Given the description of an element on the screen output the (x, y) to click on. 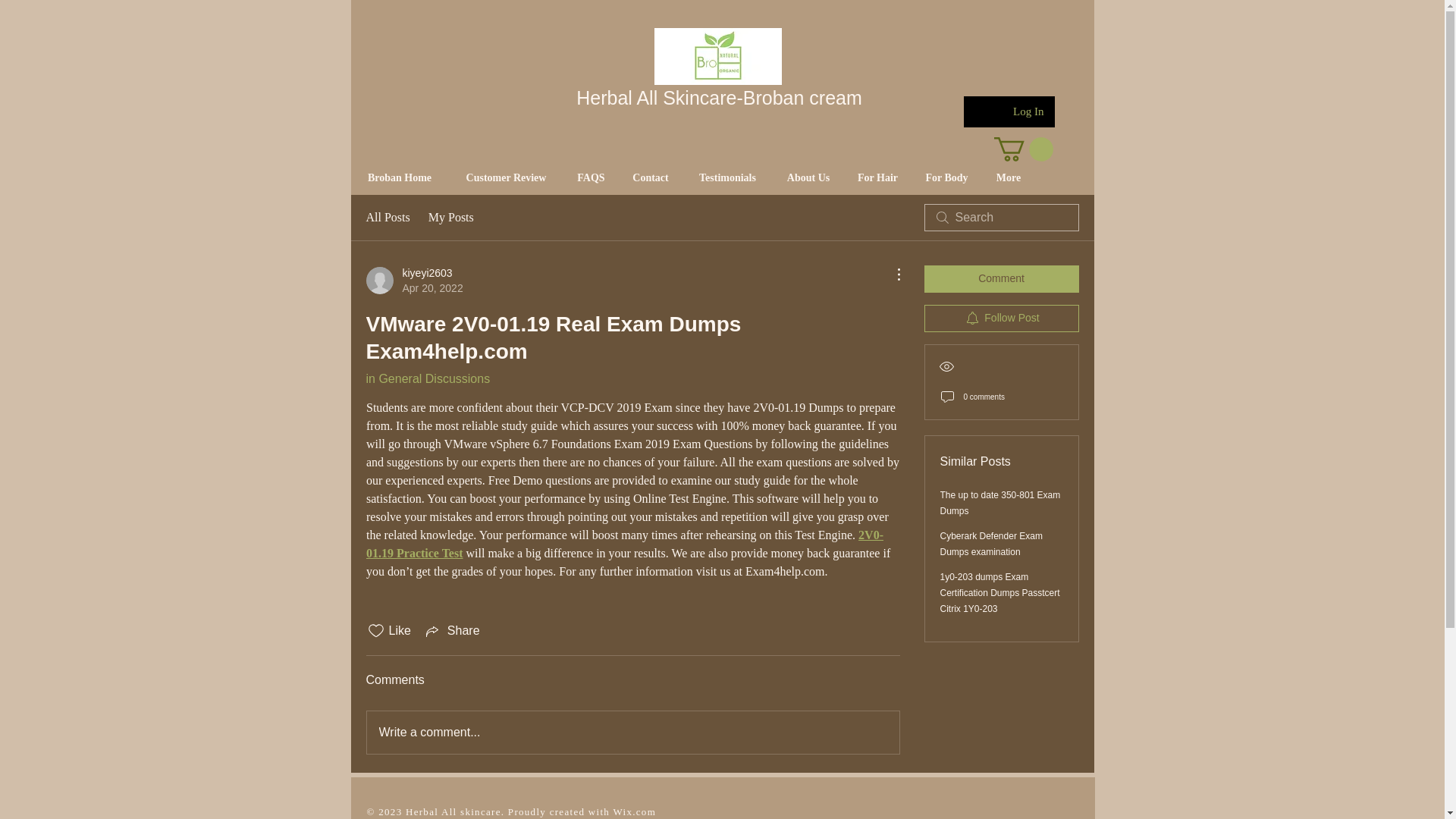
Customer Review (506, 177)
Wix.com (634, 811)
Follow Post (1000, 318)
Log In (1013, 111)
Comment (1000, 278)
Herbal All Skincare-Broban cream (718, 97)
in General Discussions (427, 378)
The up to date 350-801 Exam Dumps (414, 280)
Testimonials (1000, 502)
Cyberark Defender Exam Dumps examination (726, 177)
Broban Home (991, 543)
FAQS (399, 177)
Contact (591, 177)
